Given the description of an element on the screen output the (x, y) to click on. 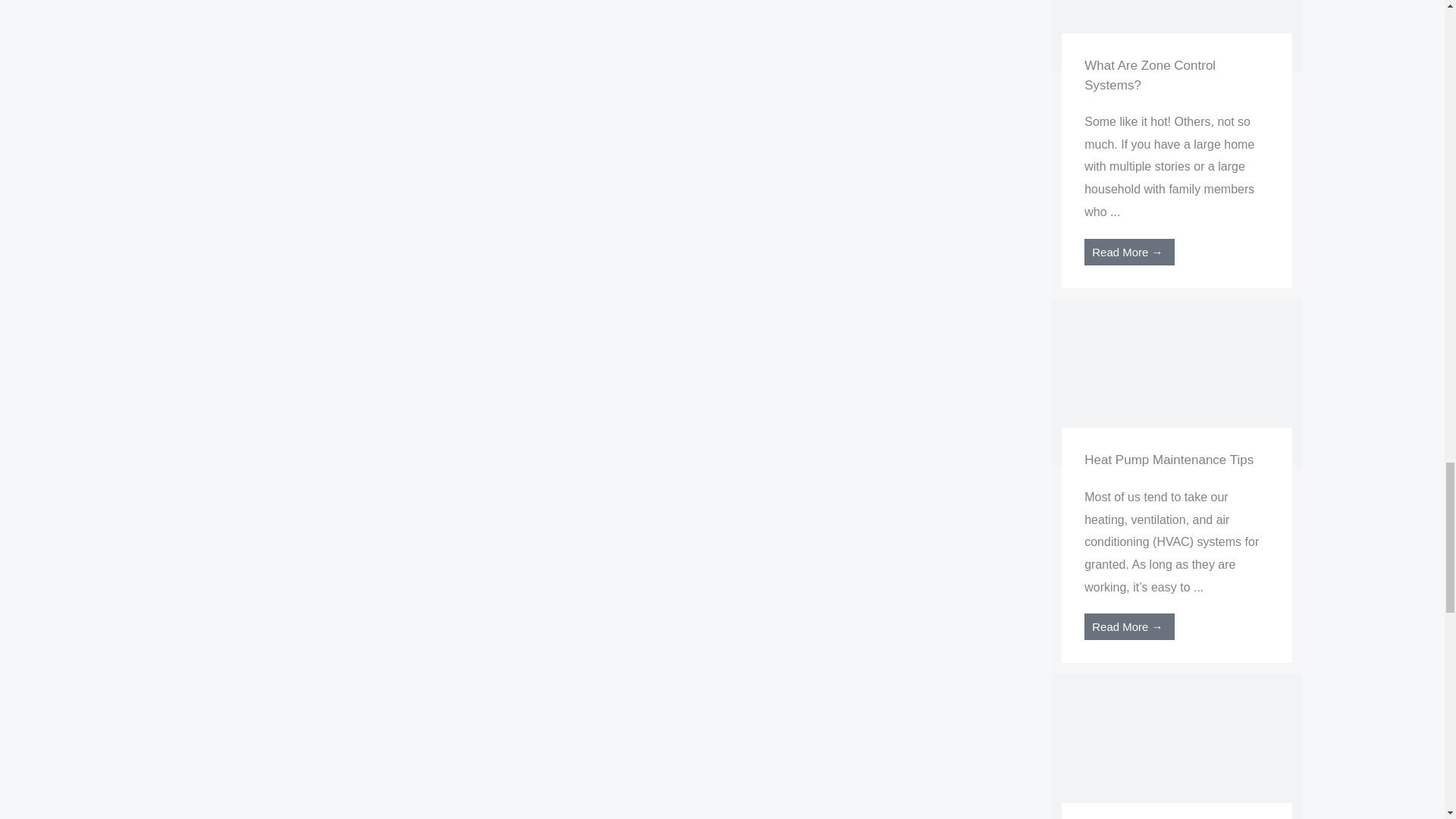
Heat Pump Maintenance Tips (1176, 381)
Why Do I Need AC Maintenance Now? (1176, 757)
